Given the description of an element on the screen output the (x, y) to click on. 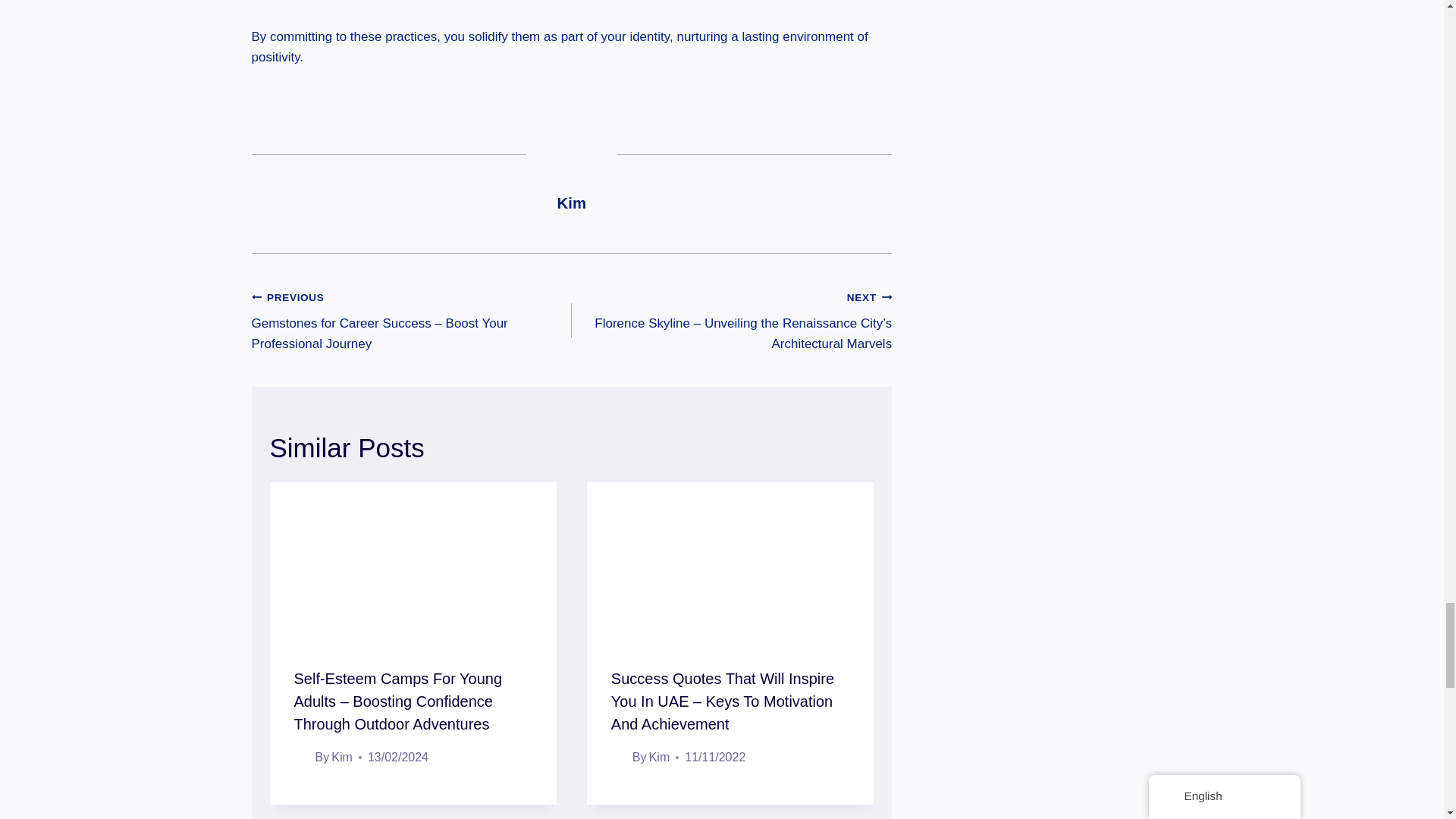
Posts by Kim (571, 202)
